Given the description of an element on the screen output the (x, y) to click on. 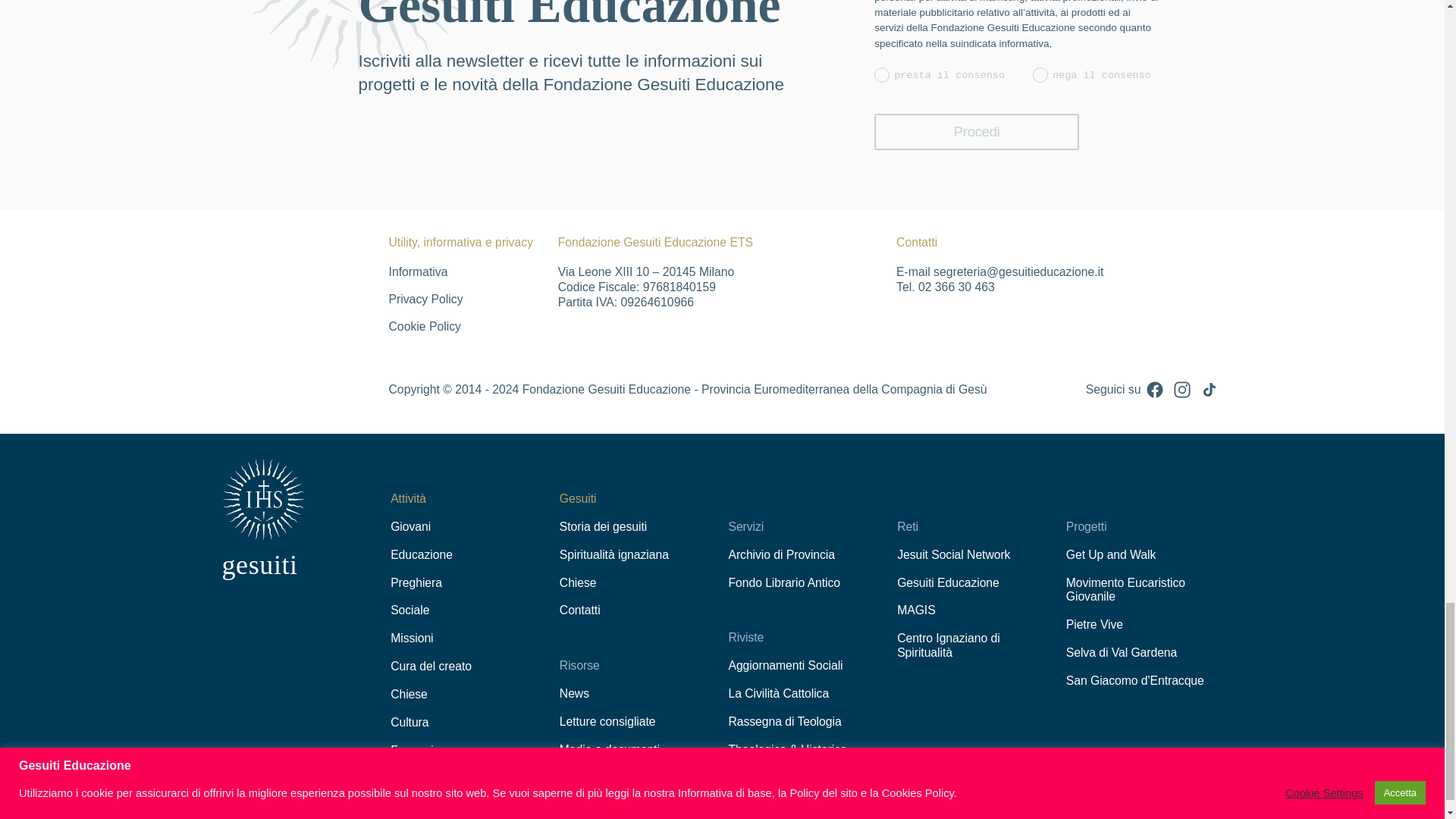
Procedi (976, 131)
